Given the description of an element on the screen output the (x, y) to click on. 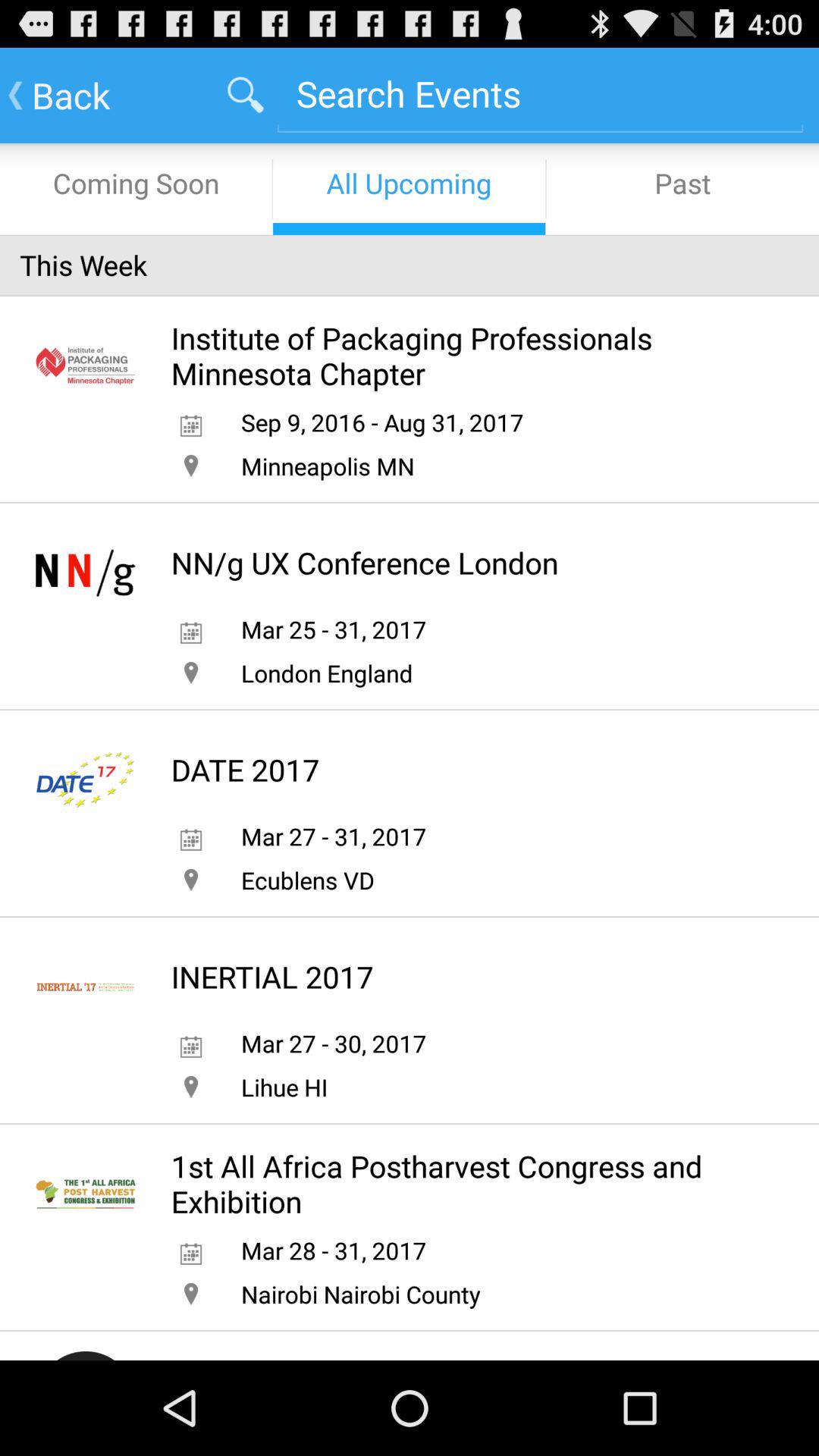
launch the this week item (409, 265)
